Given the description of an element on the screen output the (x, y) to click on. 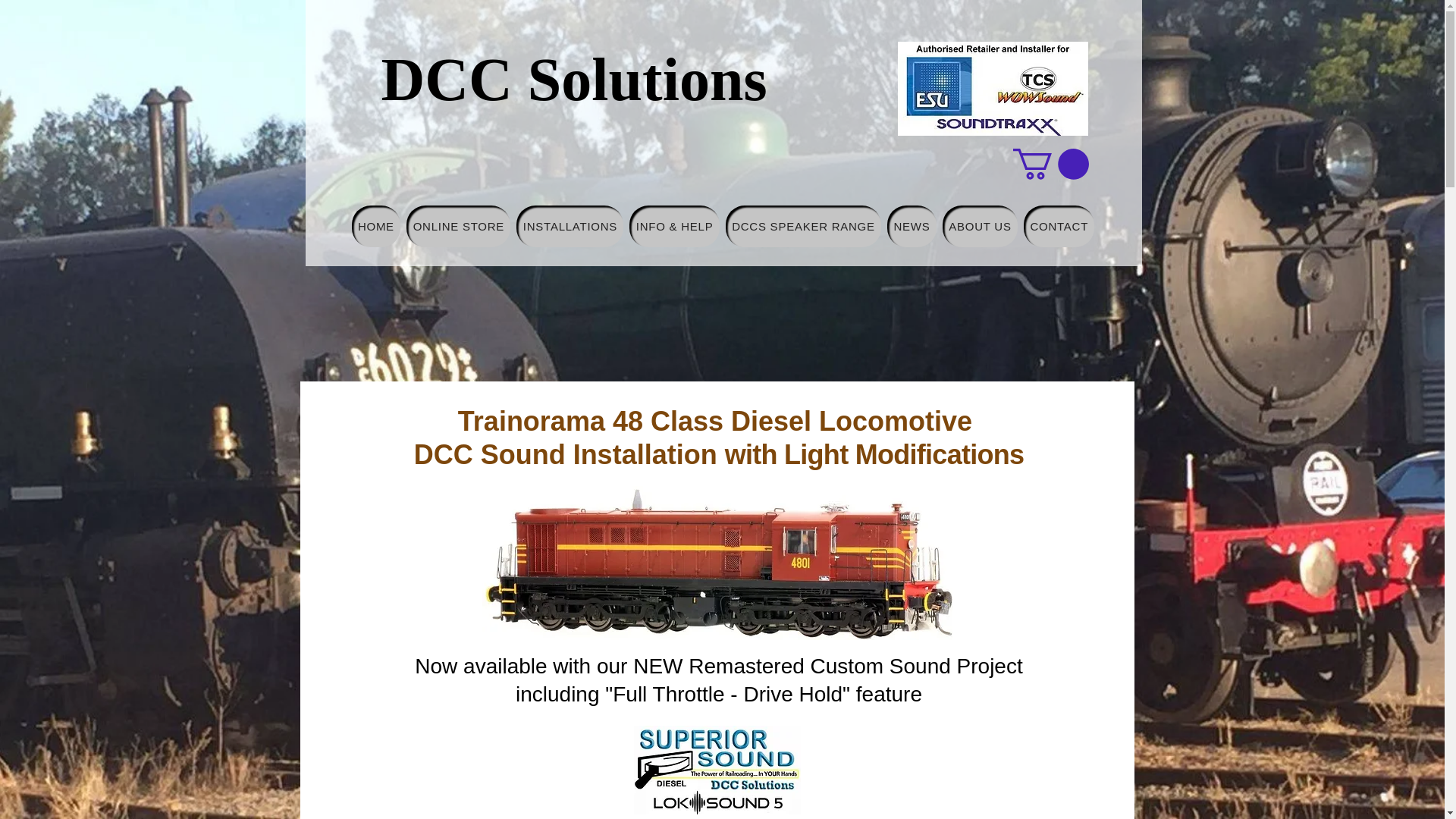
CONTACT (1058, 226)
ONLINE STORE (458, 226)
HOME (376, 226)
ABOUT US (979, 226)
NEWS (911, 226)
INSTALLATIONS (569, 226)
DCCS SPEAKER RANGE (802, 226)
